Given the description of an element on the screen output the (x, y) to click on. 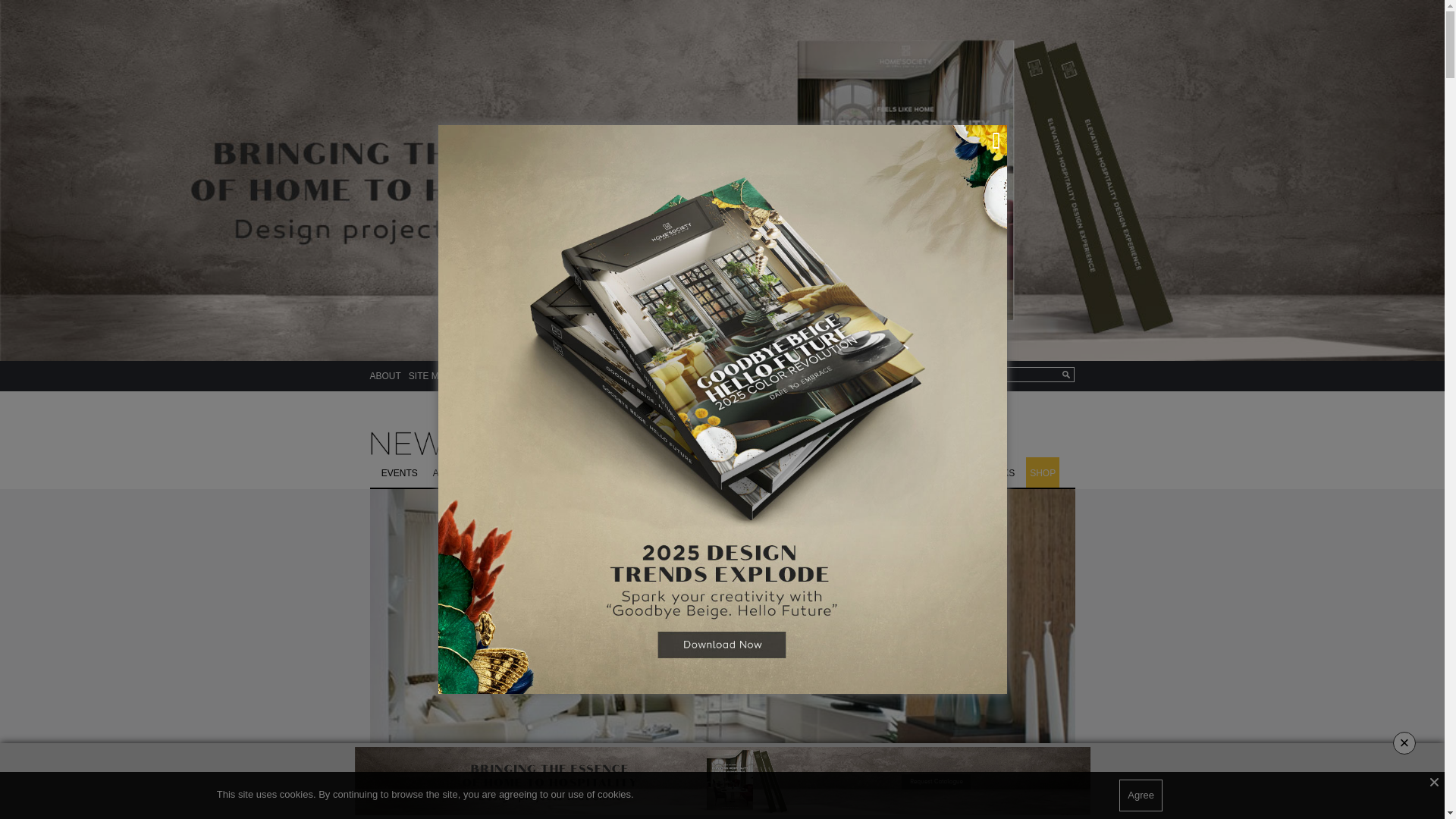
NY CITY GUIDE (648, 472)
SOHO TRENDS (811, 472)
ROOMS INSPIRATION (909, 472)
SITE MAP (430, 376)
ARCHITECTURE (468, 472)
EVENTS (399, 472)
Search (1020, 374)
ABOUT (385, 376)
INTERIOR DESIGN (559, 472)
NY GALLERIES (730, 472)
SHOP (1042, 472)
POLICY PRIVACY (496, 376)
EBOOKS (994, 472)
